Given the description of an element on the screen output the (x, y) to click on. 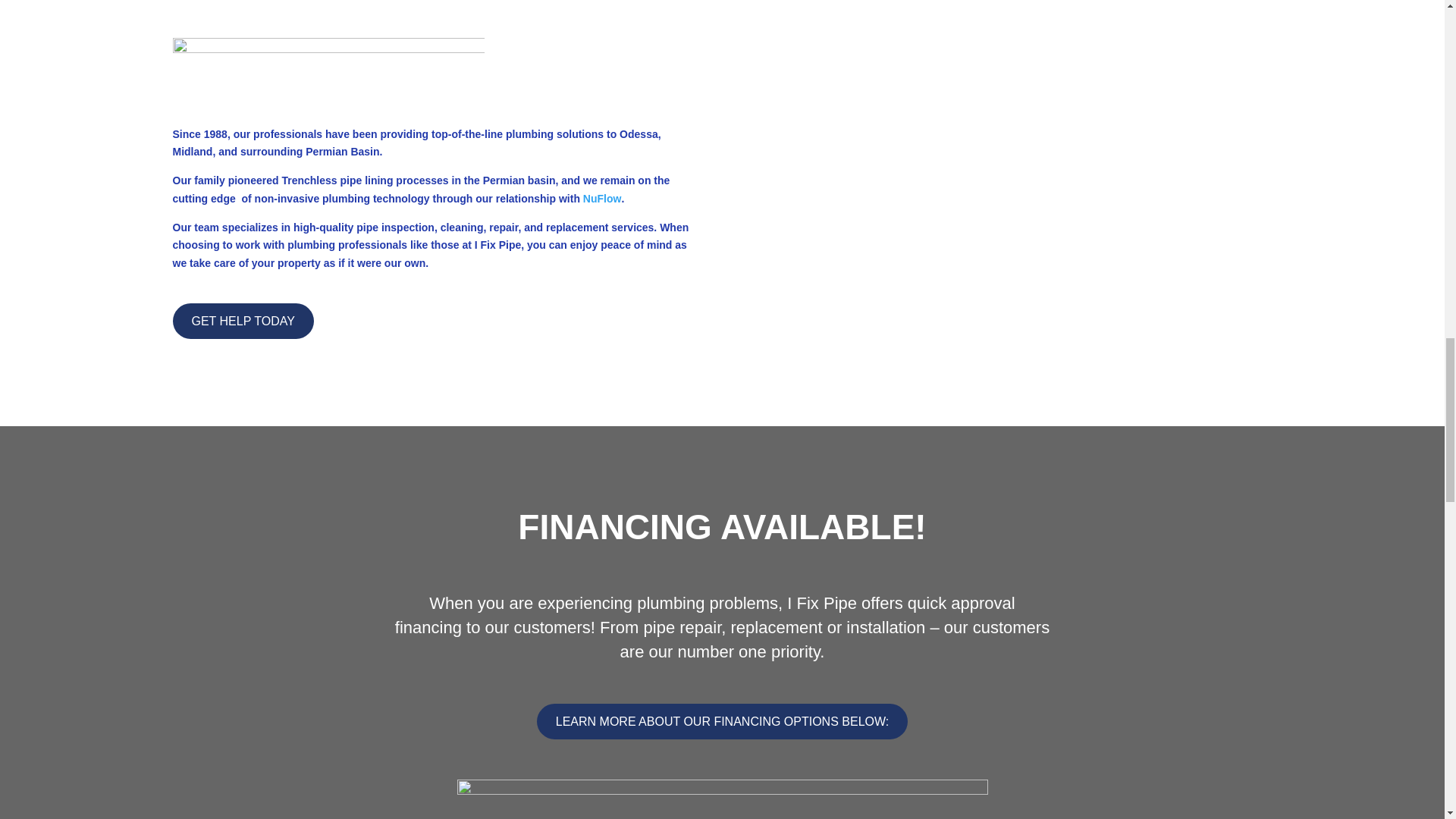
LEARN MORE ABOUT OUR FINANCING OPTIONS BELOW: (722, 721)
badges (328, 66)
GET HELP TODAY (243, 321)
NuFlow (602, 198)
